Given the description of an element on the screen output the (x, y) to click on. 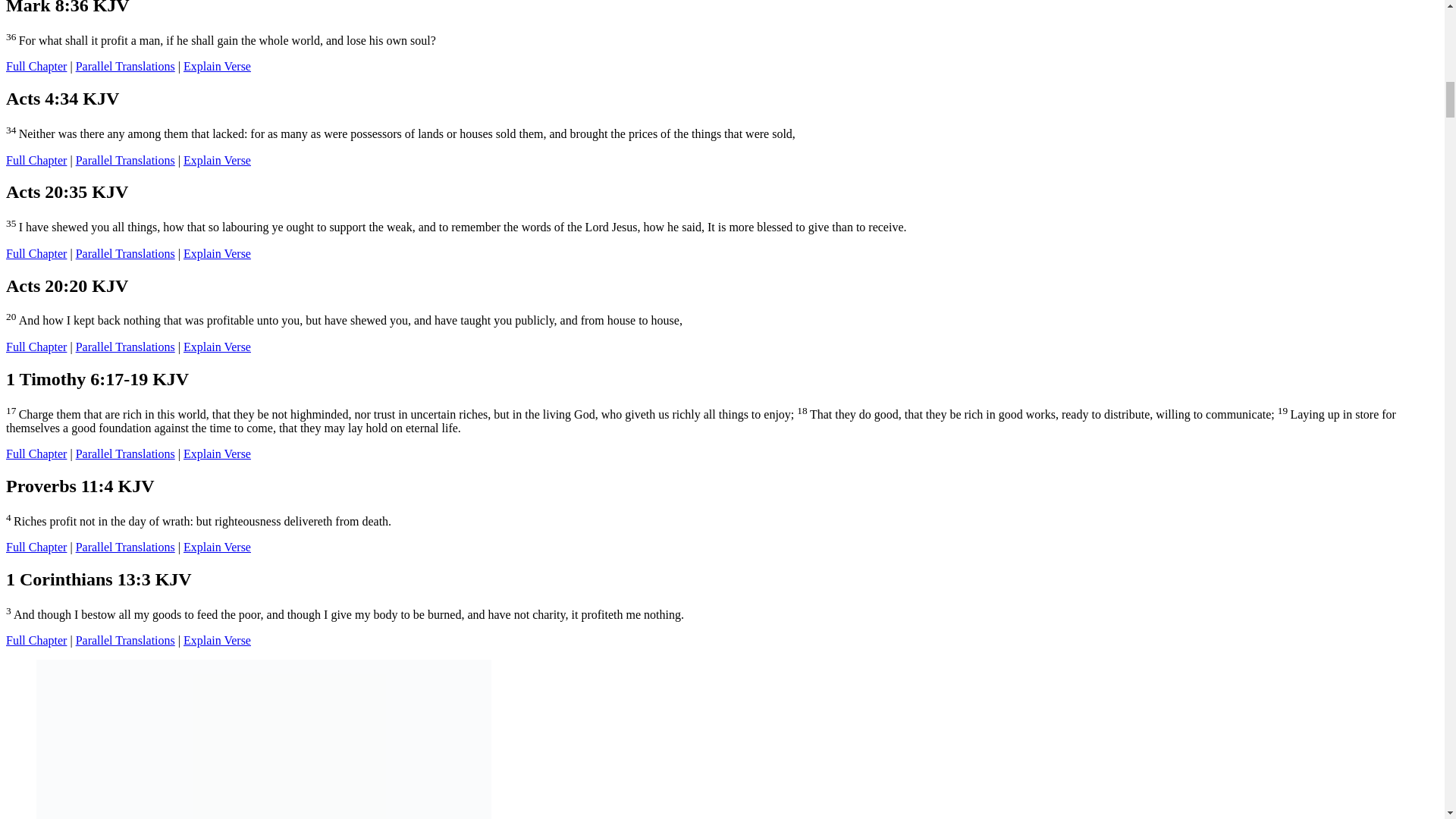
Explain Verse (216, 453)
Full Chapter (35, 160)
Parallel Translations (124, 453)
Parallel Translations (124, 253)
Full Chapter (35, 346)
Explain Verse (216, 65)
Parallel Translations (124, 346)
Full Chapter (35, 453)
Explain Verse (216, 160)
Explain Verse (216, 253)
Parallel Translations (124, 160)
Explain Verse (216, 346)
Full Chapter (35, 253)
Full Chapter (35, 65)
Parallel Translations (124, 65)
